Given the description of an element on the screen output the (x, y) to click on. 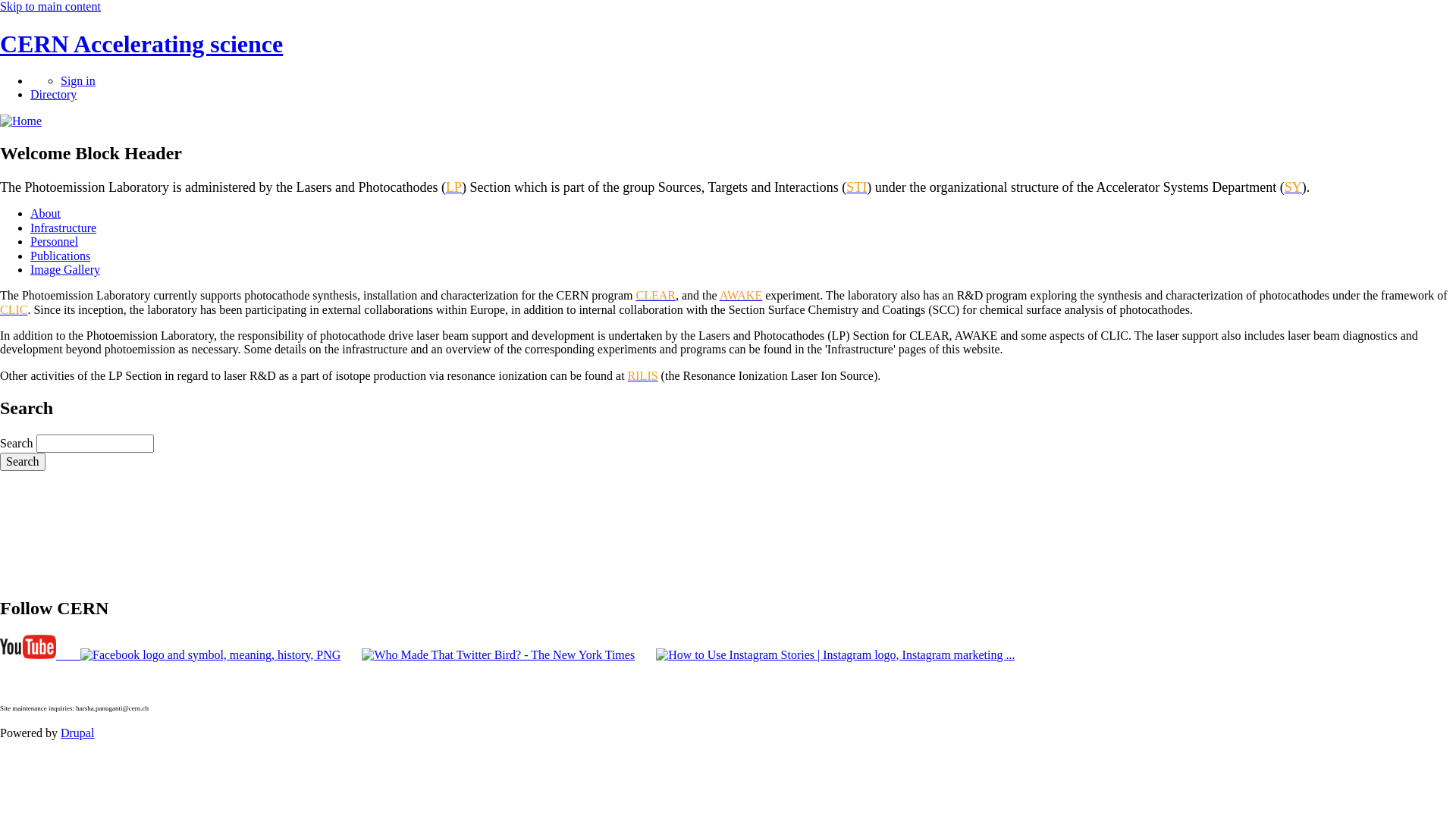
        Element type: text (40, 654)
AWAKE Element type: text (740, 294)
Search Element type: text (22, 461)
About Element type: text (45, 213)
Infrastructure Element type: text (63, 227)
Enter the terms you wish to search for. Element type: hover (94, 443)
Image Gallery Element type: text (65, 269)
LP Element type: text (453, 186)
SY Element type: text (1293, 186)
Drupal Element type: text (77, 732)
RILIS Element type: text (642, 375)
CLEAR Element type: text (654, 294)
Directory Element type: text (53, 93)
STI Element type: text (856, 186)
Sign in Element type: text (77, 80)
CERN Accelerating science Element type: text (141, 43)
CLIC Element type: text (13, 309)
Personnel Element type: text (54, 241)
Publications Element type: text (60, 254)
Skip to main content Element type: text (50, 6)
